Given the description of an element on the screen output the (x, y) to click on. 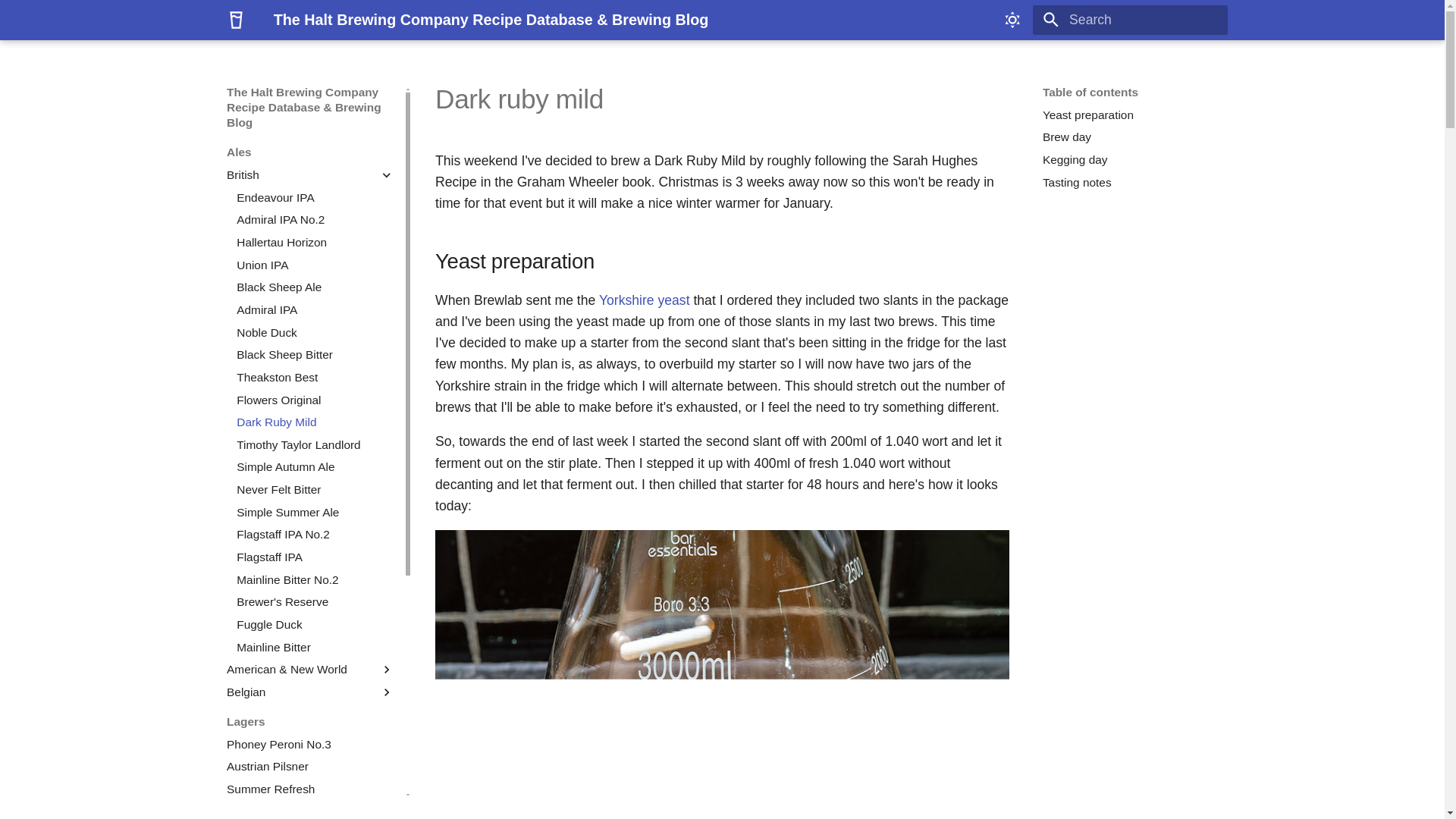
Union IPA (314, 264)
Admiral IPA No.2 (314, 219)
Hallertau Horizon (314, 242)
Mainline Bitter (314, 647)
Dark Ruby Mild (314, 421)
Timothy Taylor Landlord (314, 444)
Mainline Bitter No.2 (314, 580)
Switch to dark mode (1012, 19)
Black Sheep Bitter (314, 354)
Admiral IPA (314, 309)
